Given the description of an element on the screen output the (x, y) to click on. 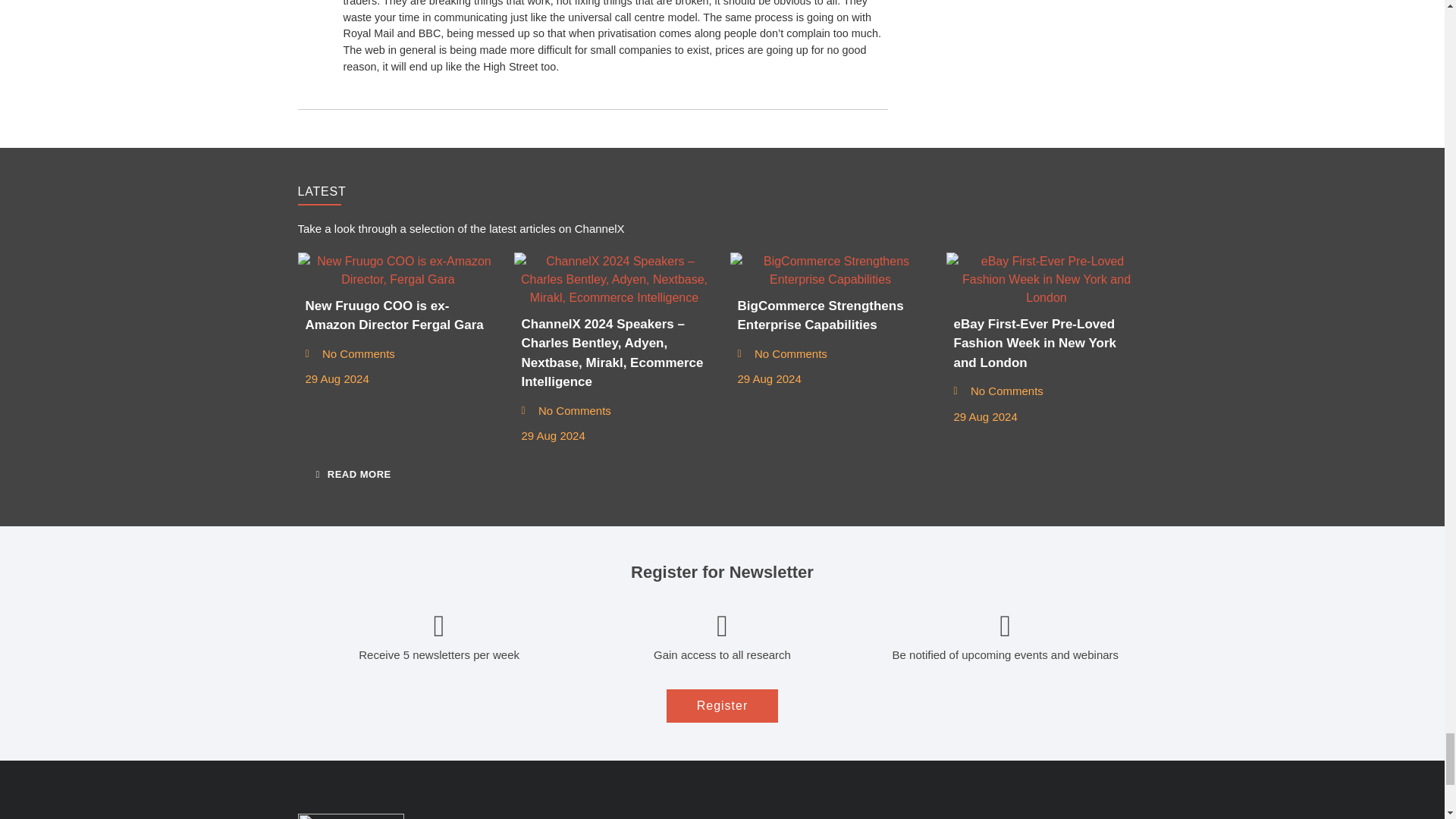
New Fruugo COO is ex-Amazon Director, Fergal Gara (397, 270)
BigCommerce Strengthens Enterprise Capabilities (829, 270)
